Given the description of an element on the screen output the (x, y) to click on. 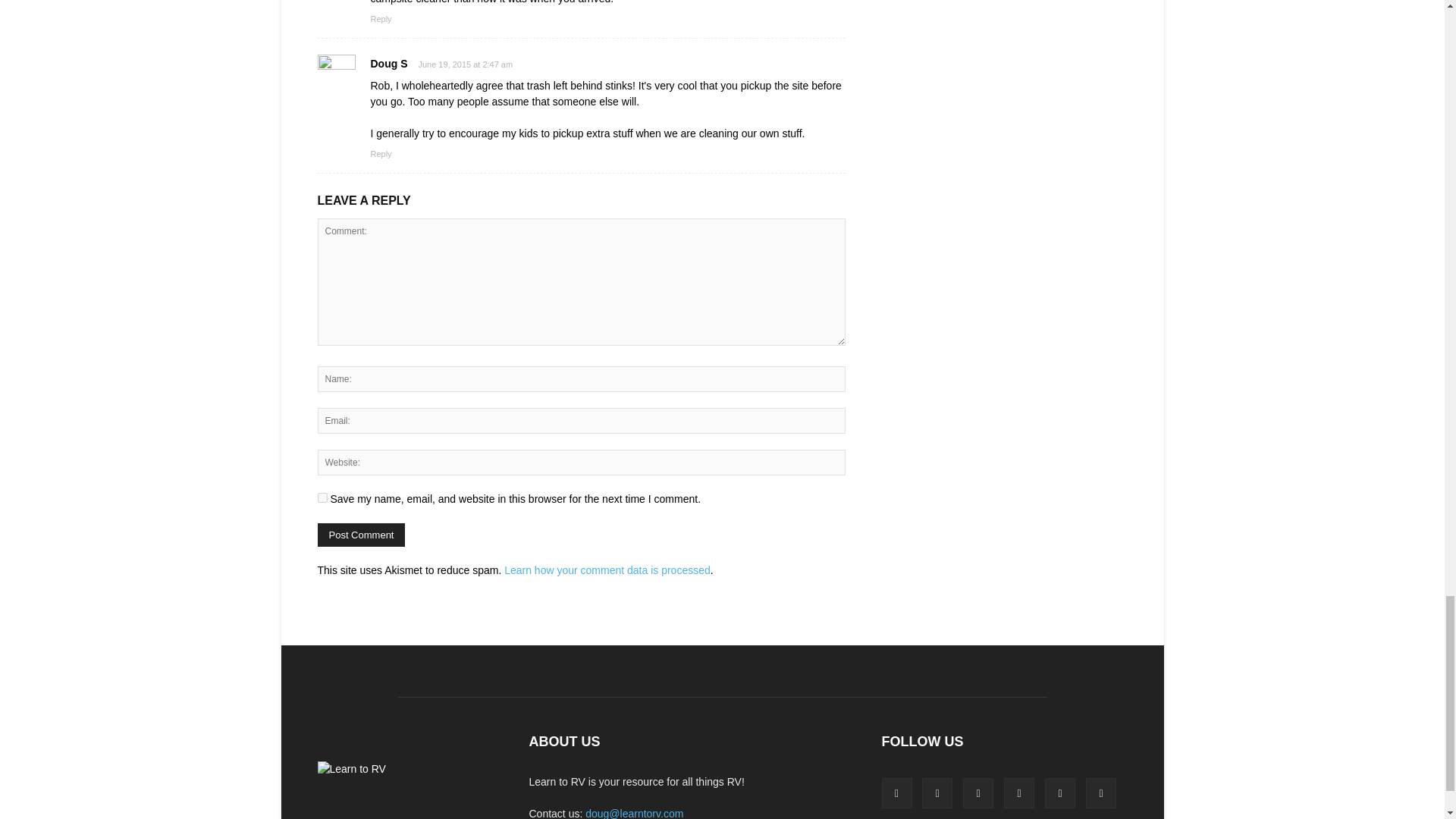
yes (321, 497)
Post Comment (360, 535)
